Given the description of an element on the screen output the (x, y) to click on. 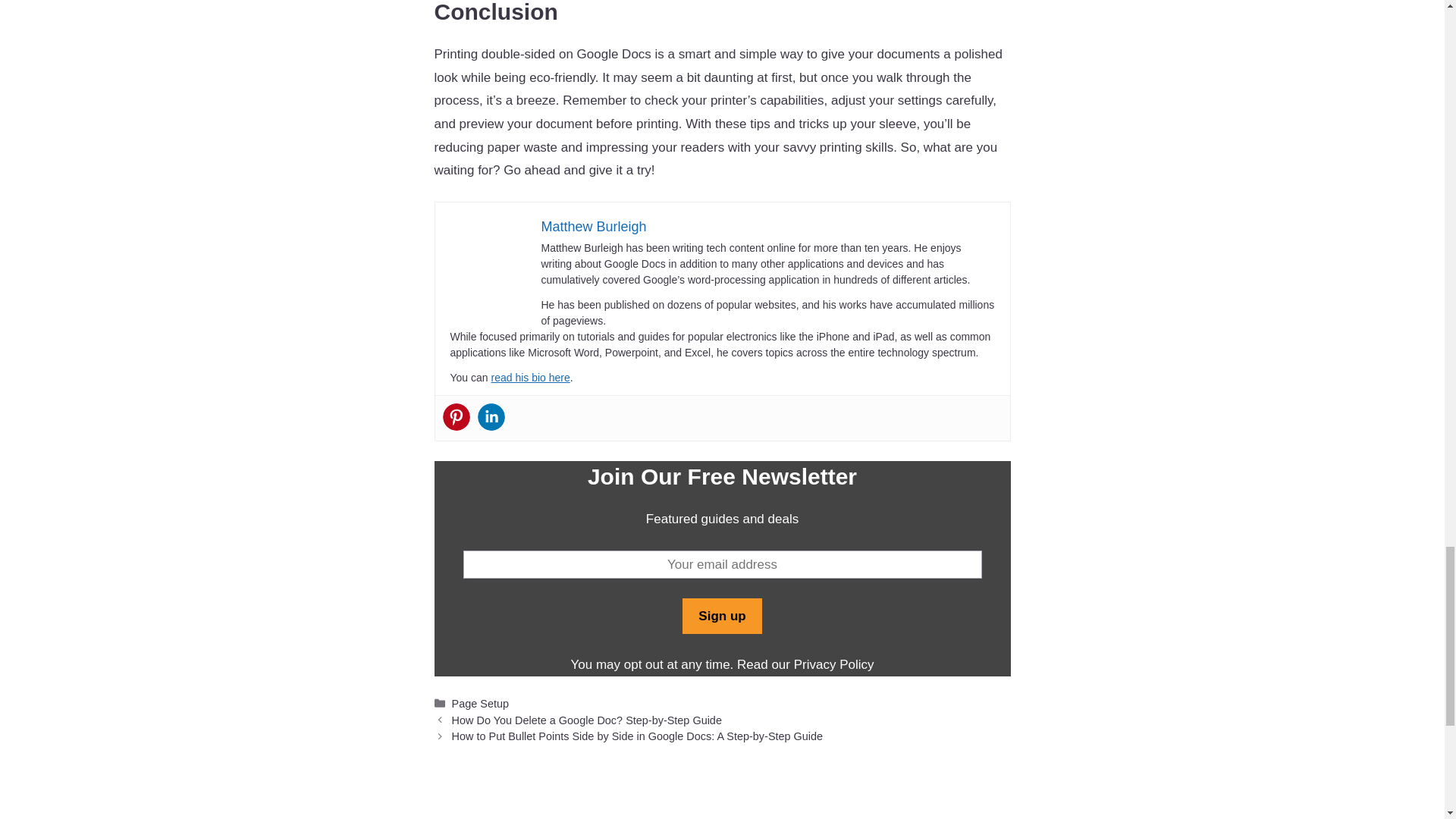
Privacy Policy (832, 664)
Page Setup (479, 703)
Pinterest (456, 416)
Matthew Burleigh (593, 226)
Sign up (721, 616)
How Do You Delete a Google Doc? Step-by-Step Guide (586, 720)
read his bio here (529, 377)
Sign up (721, 616)
Linkedin (491, 416)
